Given the description of an element on the screen output the (x, y) to click on. 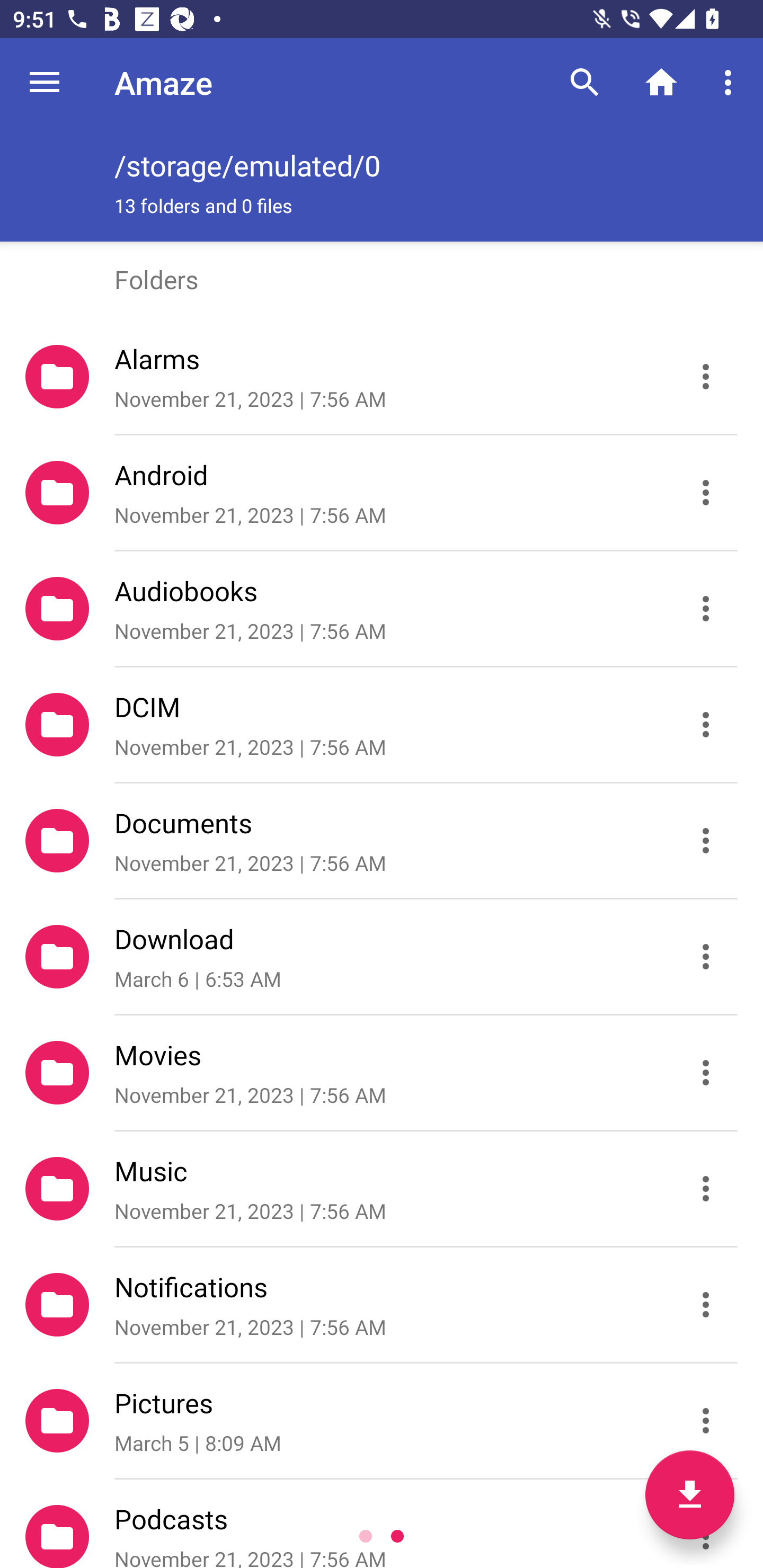
Navigate up (44, 82)
Search (585, 81)
Home (661, 81)
More options (731, 81)
Alarms November 21, 2023 | 7:56 AM (381, 376)
Android November 21, 2023 | 7:56 AM (381, 492)
Audiobooks November 21, 2023 | 7:56 AM (381, 608)
DCIM November 21, 2023 | 7:56 AM (381, 724)
Documents November 21, 2023 | 7:56 AM (381, 841)
Download March 6 | 6:53 AM (381, 957)
Movies November 21, 2023 | 7:56 AM (381, 1073)
Music November 21, 2023 | 7:56 AM (381, 1189)
Notifications November 21, 2023 | 7:56 AM (381, 1305)
Pictures March 5 | 8:09 AM (381, 1421)
Podcasts November 21, 2023 | 7:56 AM (381, 1524)
